Given the description of an element on the screen output the (x, y) to click on. 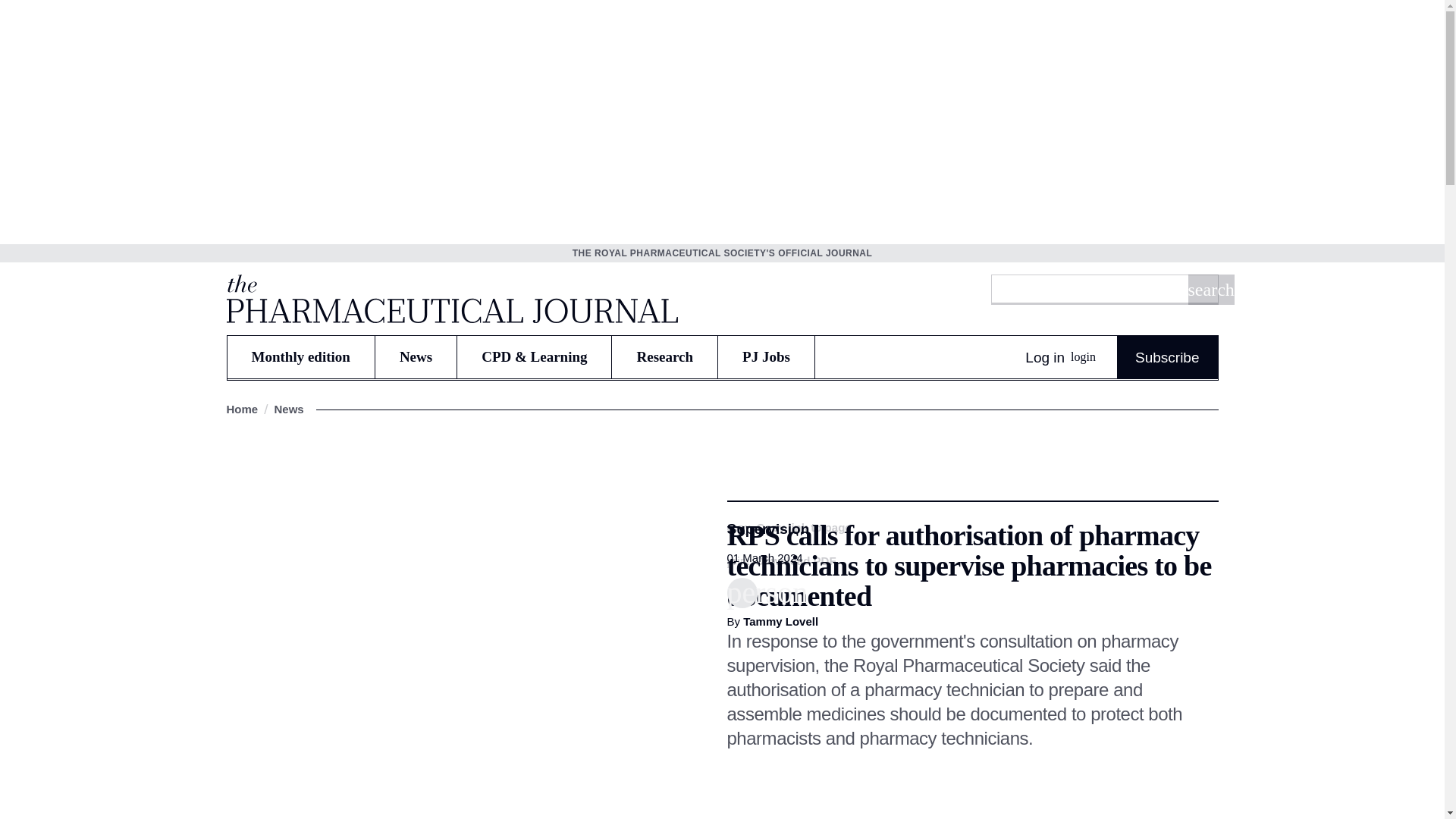
Search (1210, 289)
Monthly edition (300, 356)
The Pharmaceutical Journal (451, 298)
News (416, 356)
